Given the description of an element on the screen output the (x, y) to click on. 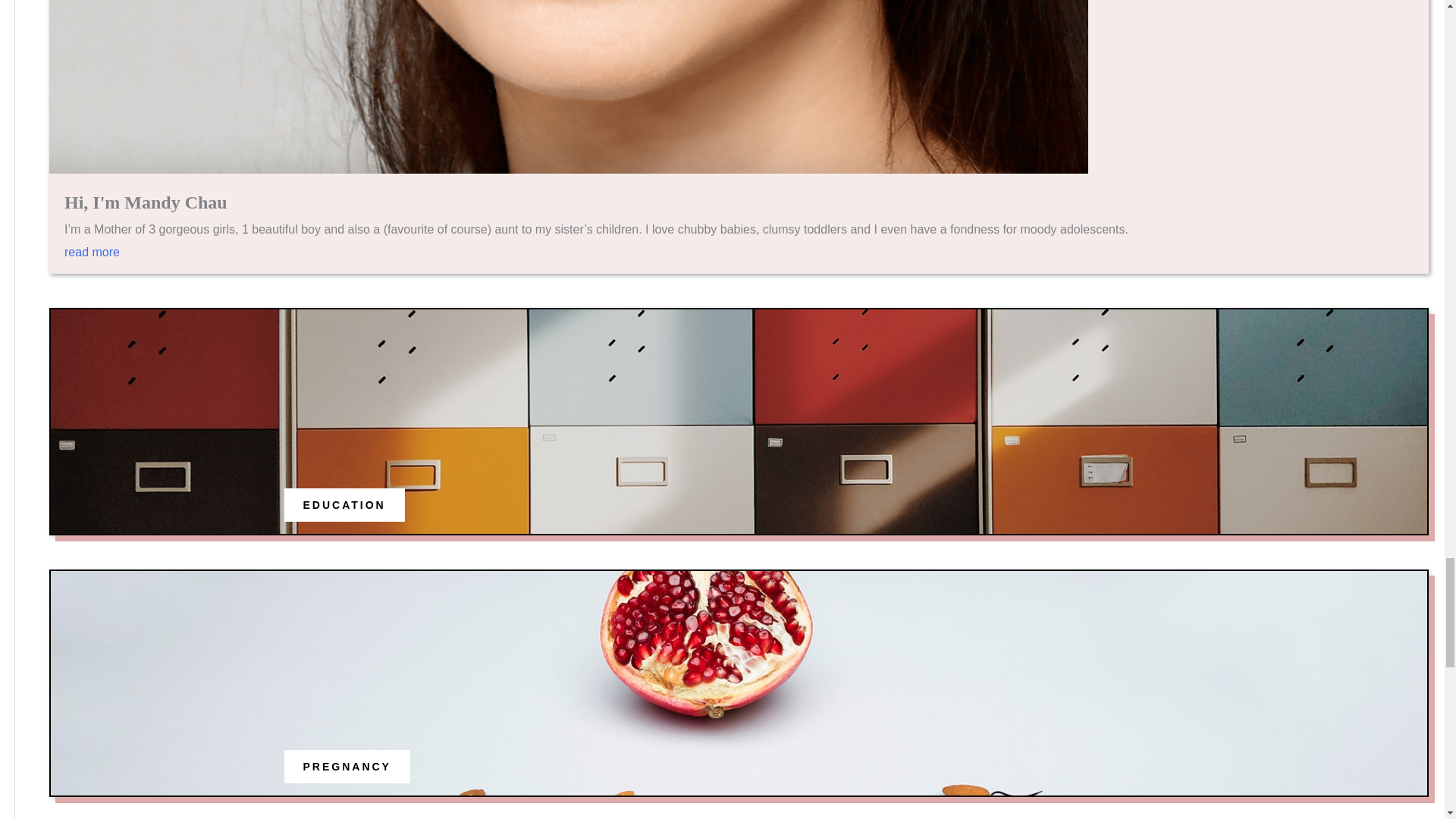
PREGNANCY (346, 766)
EDUCATION (344, 504)
read more (738, 259)
